Given the description of an element on the screen output the (x, y) to click on. 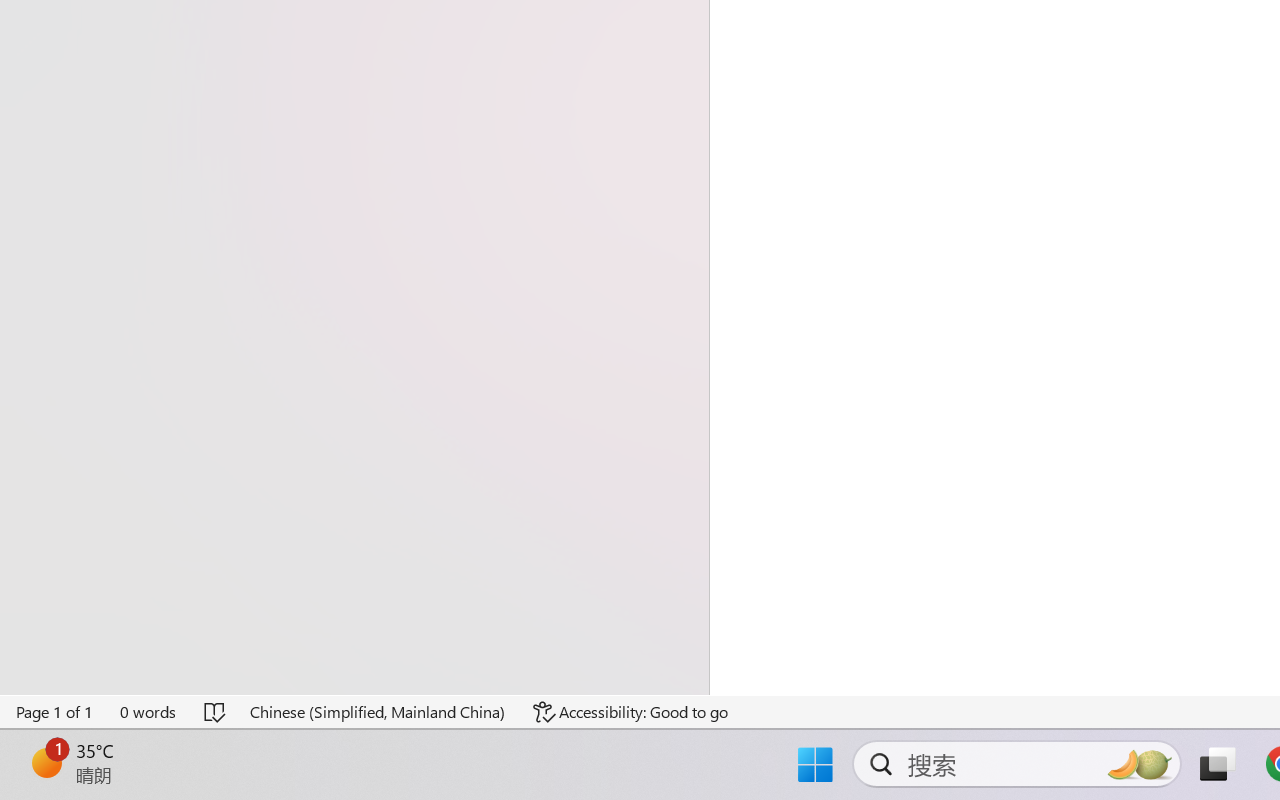
Language Chinese (Simplified, Mainland China) (378, 712)
